Given the description of an element on the screen output the (x, y) to click on. 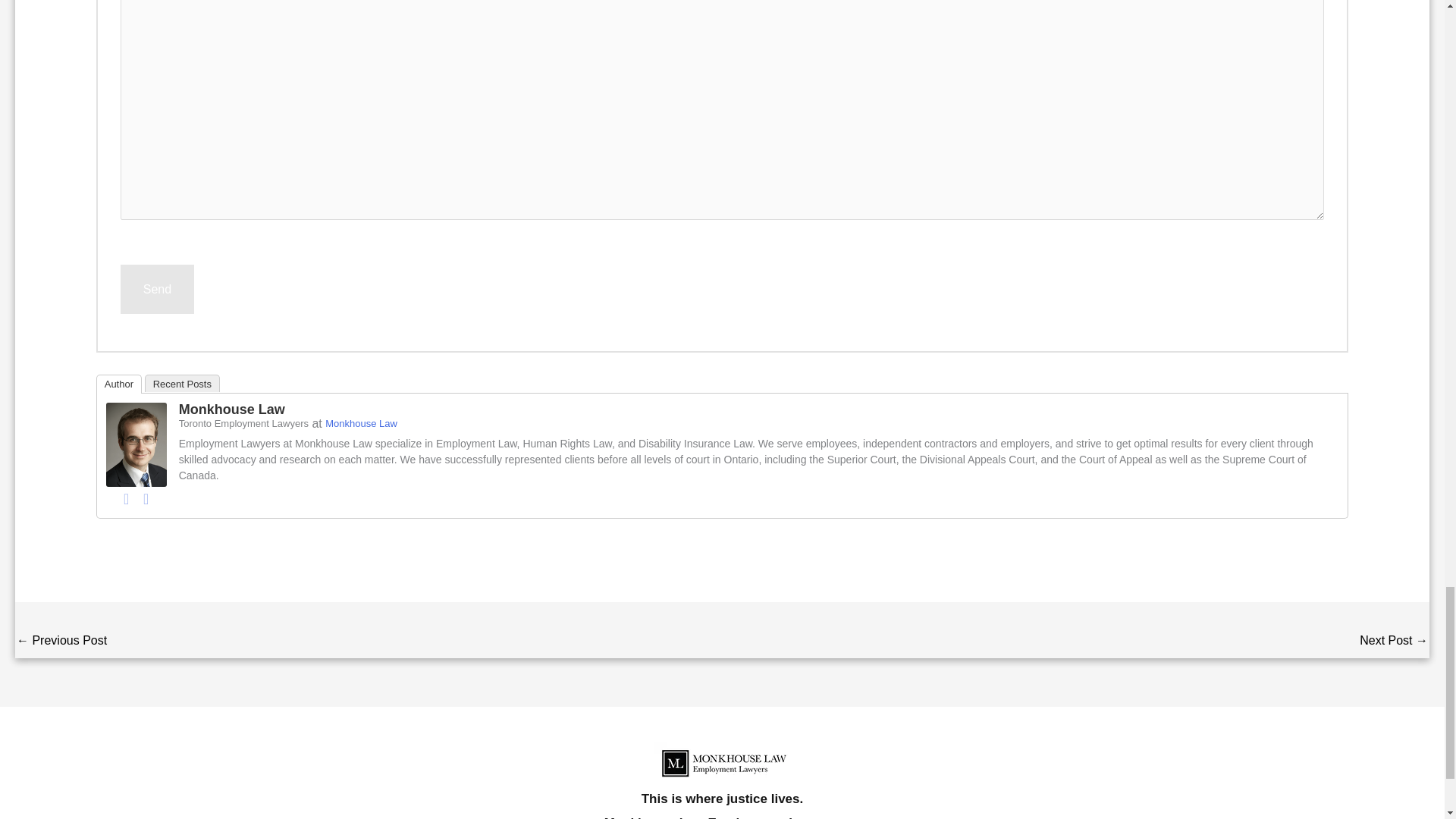
Twitter (145, 498)
Send (156, 289)
Facebook (126, 498)
Wrongful Dismissal and Mitigation (61, 642)
Monkhouse Law (136, 443)
